Given the description of an element on the screen output the (x, y) to click on. 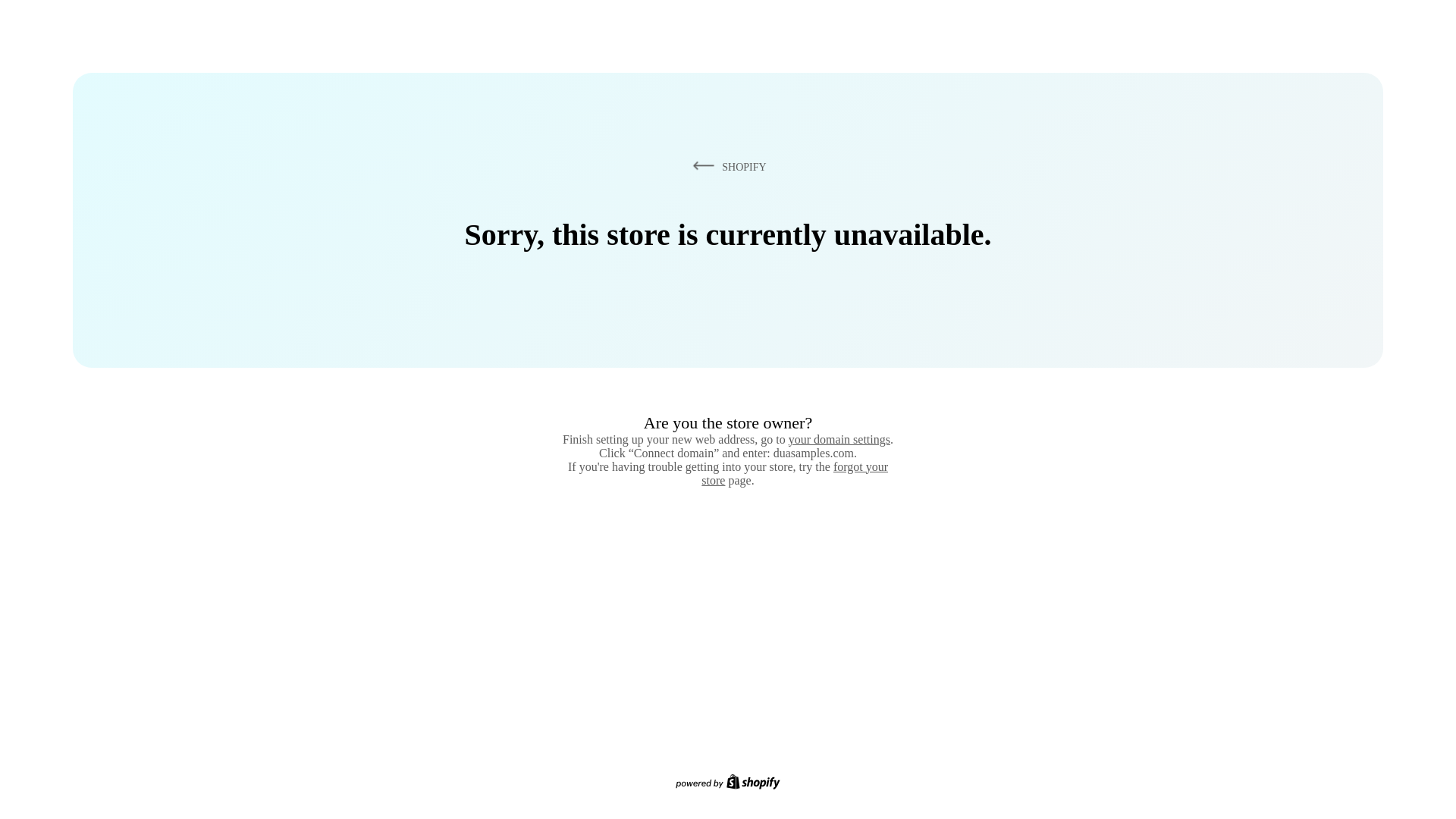
SHOPIFY (726, 166)
your domain settings (839, 439)
forgot your store (794, 473)
